Given the description of an element on the screen output the (x, y) to click on. 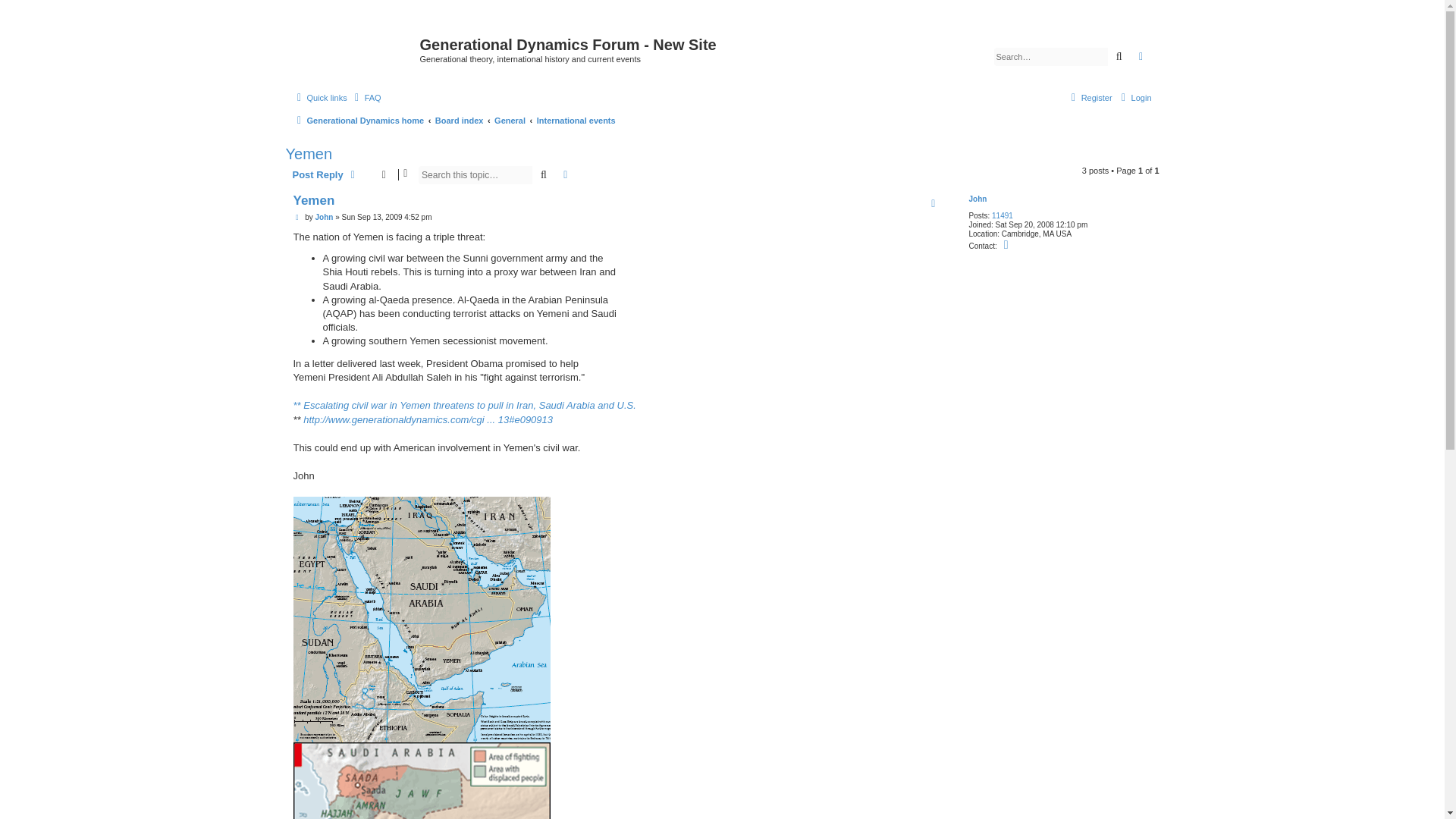
Contact John (1006, 244)
Post (297, 216)
Register (1089, 97)
Quote (933, 203)
John (323, 216)
Advanced search (565, 175)
Search (543, 175)
Advanced search (565, 175)
Generational Dynamics home (357, 120)
International events (576, 120)
